Given the description of an element on the screen output the (x, y) to click on. 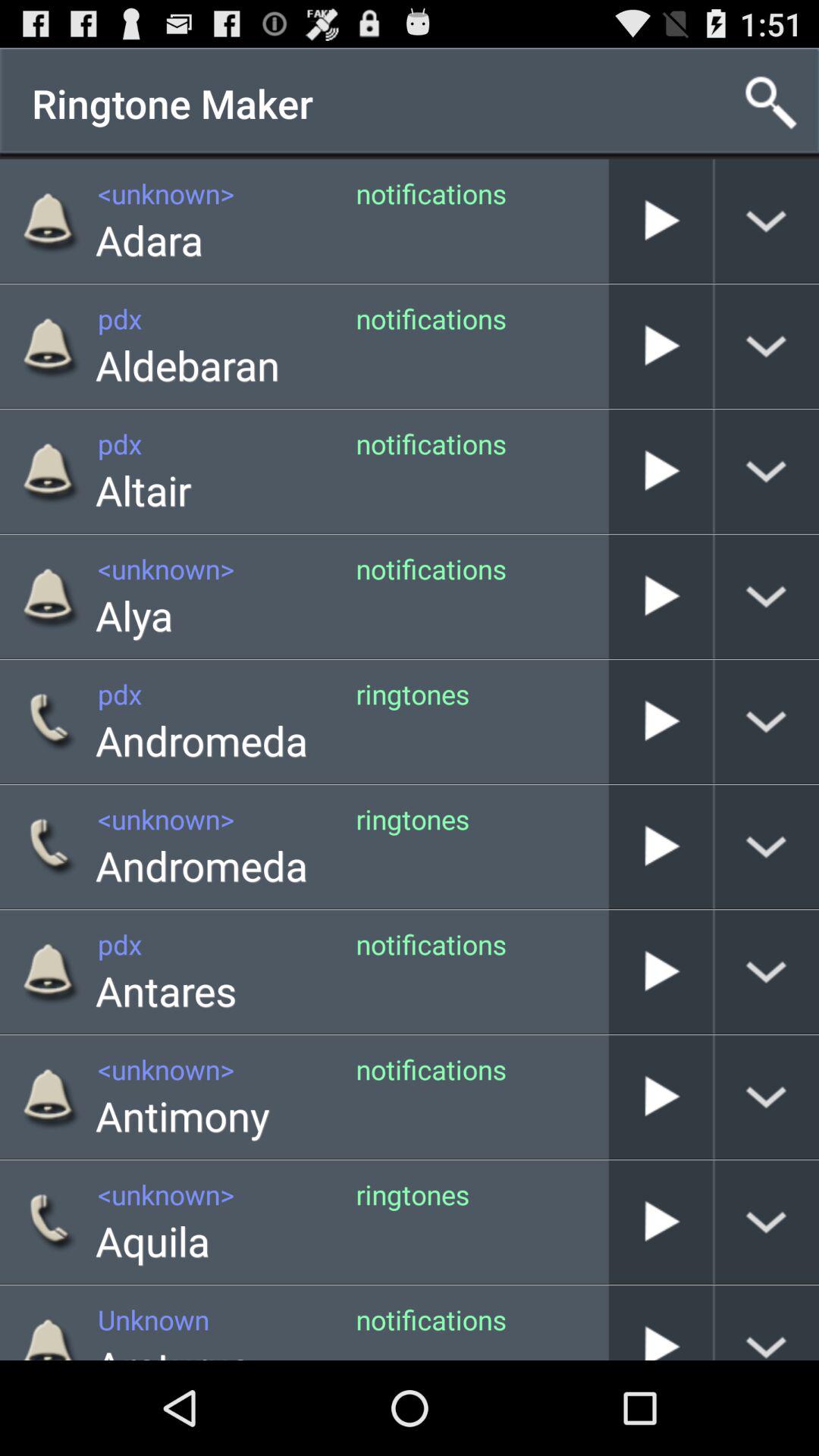
play ringtone (660, 971)
